Given the description of an element on the screen output the (x, y) to click on. 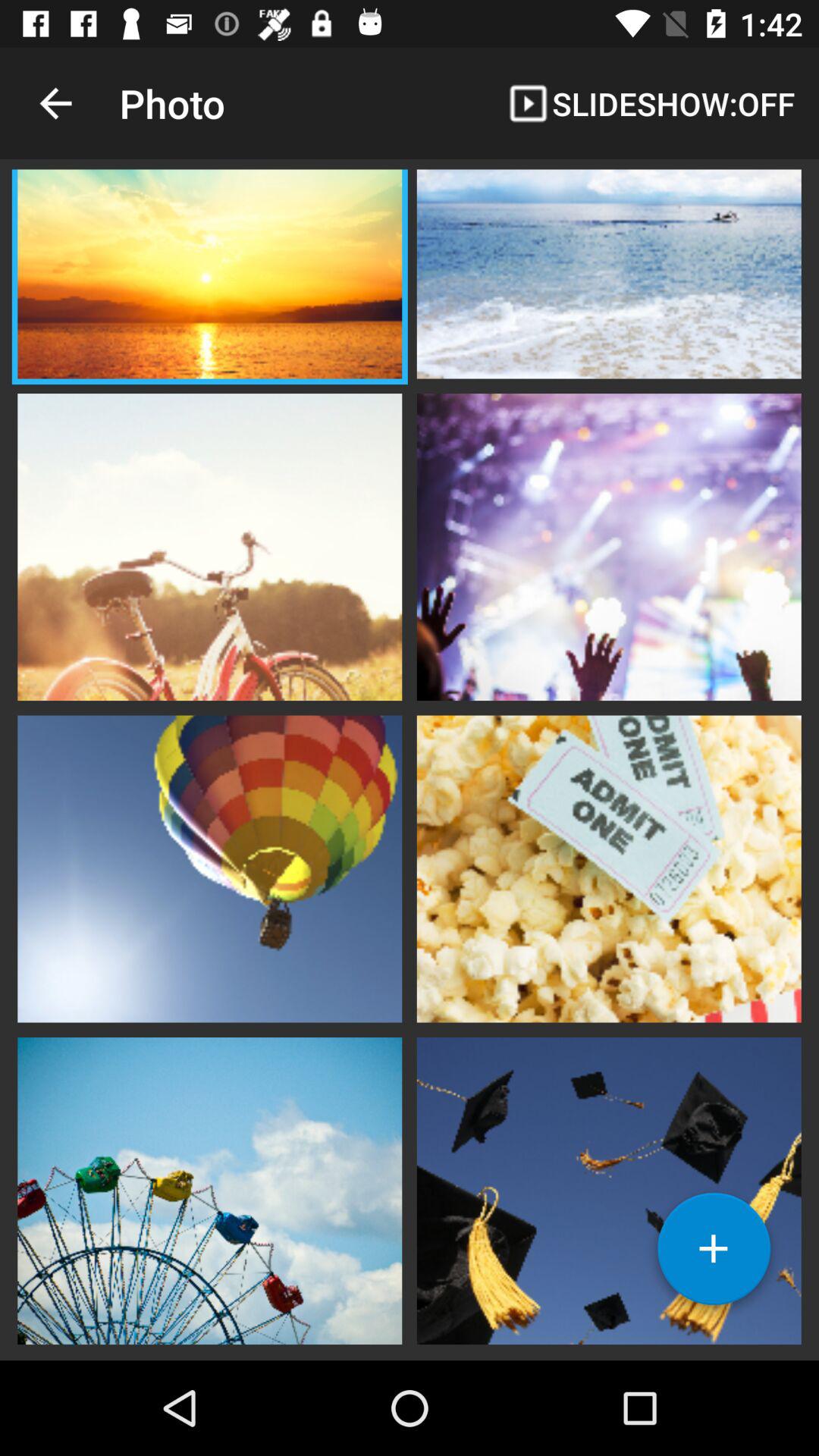
select the image (609, 867)
